Given the description of an element on the screen output the (x, y) to click on. 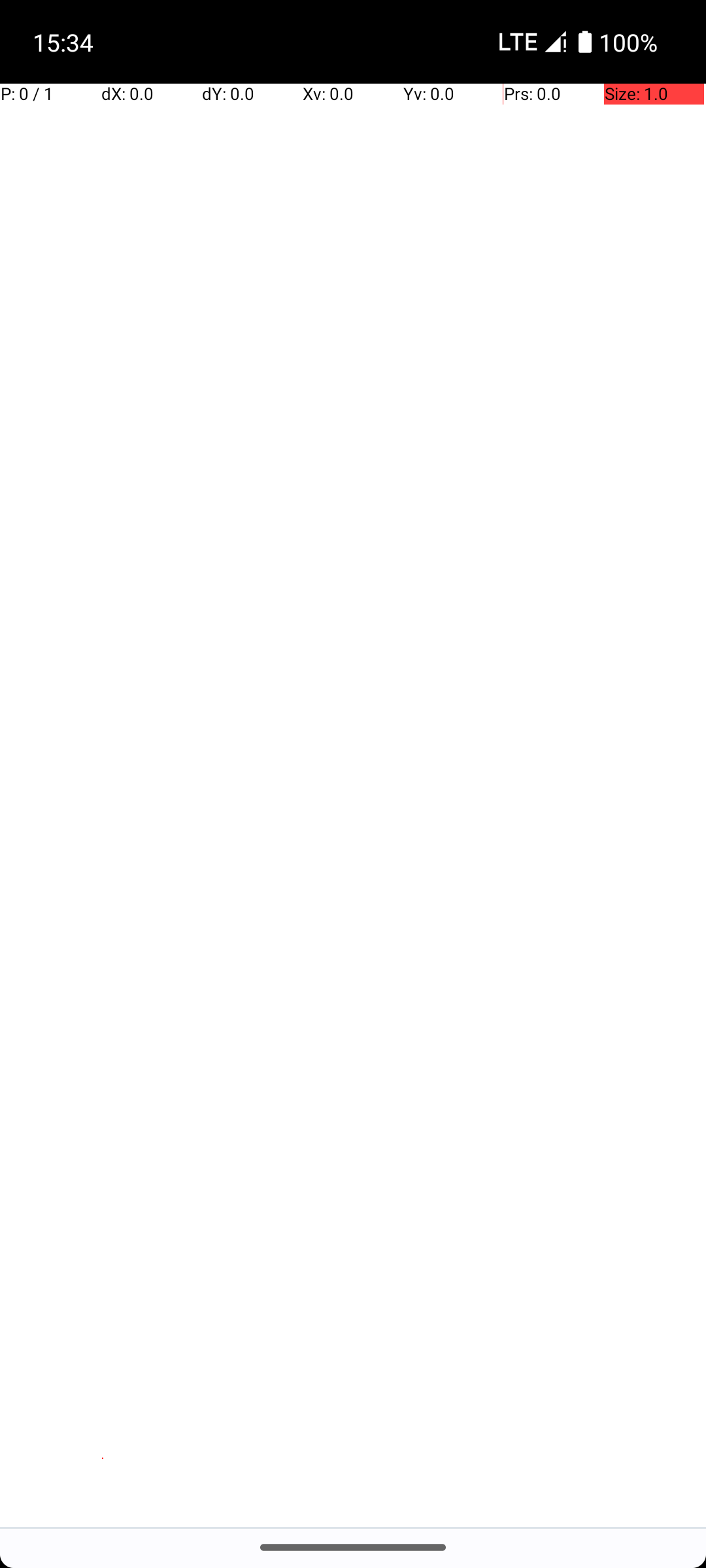
github.com Element type: android.widget.TextView (103, 657)
